Given the description of an element on the screen output the (x, y) to click on. 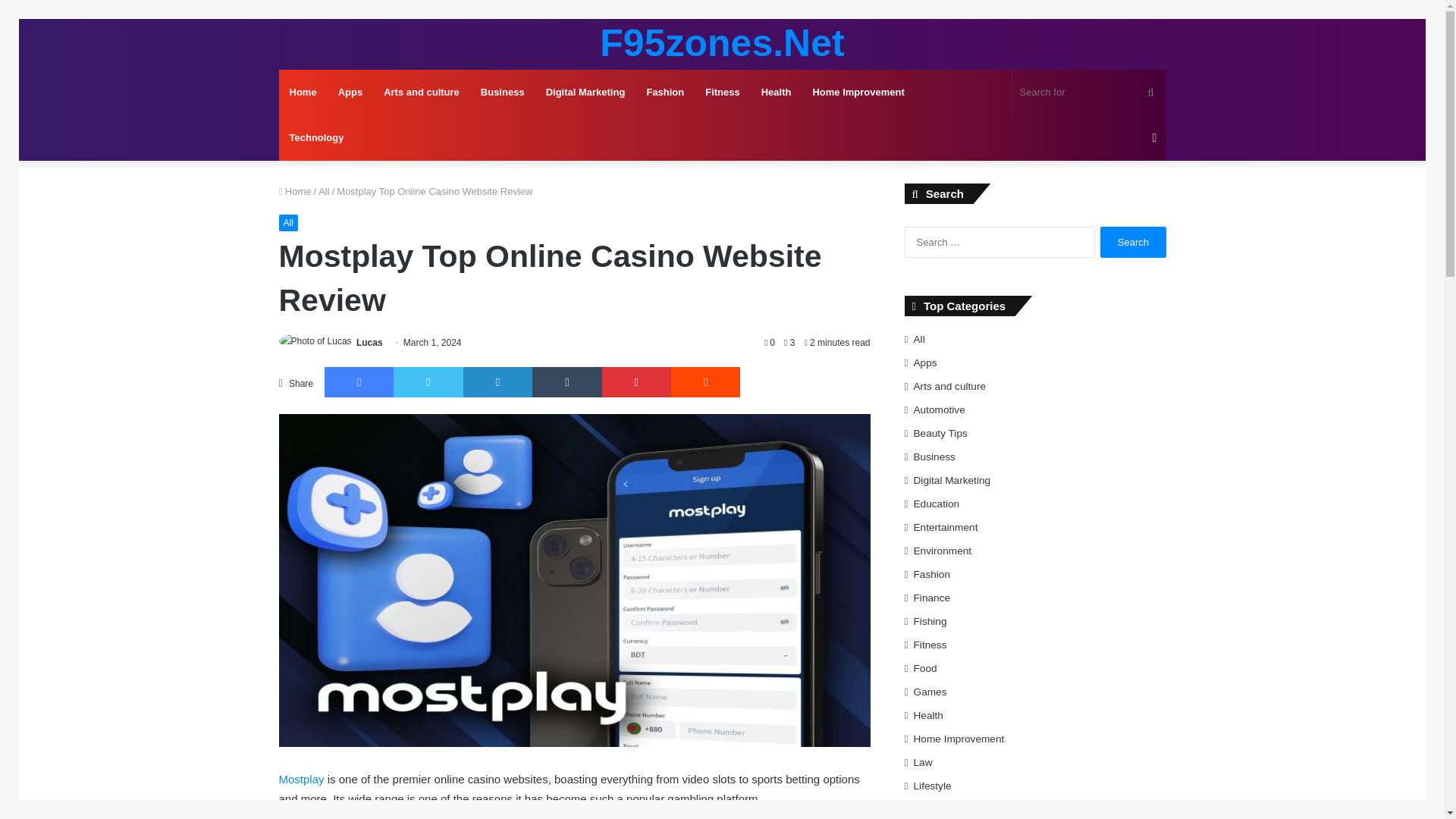
Twitter (428, 381)
Health (776, 92)
Digital Marketing (585, 92)
Fitness (722, 92)
Home Improvement (858, 92)
All (288, 222)
LinkedIn (497, 381)
LinkedIn (497, 381)
All (323, 191)
Lucas (369, 342)
Pinterest (636, 381)
Home (303, 92)
F95zones.Net (721, 43)
Fashion (664, 92)
Mostplay (301, 779)
